Given the description of an element on the screen output the (x, y) to click on. 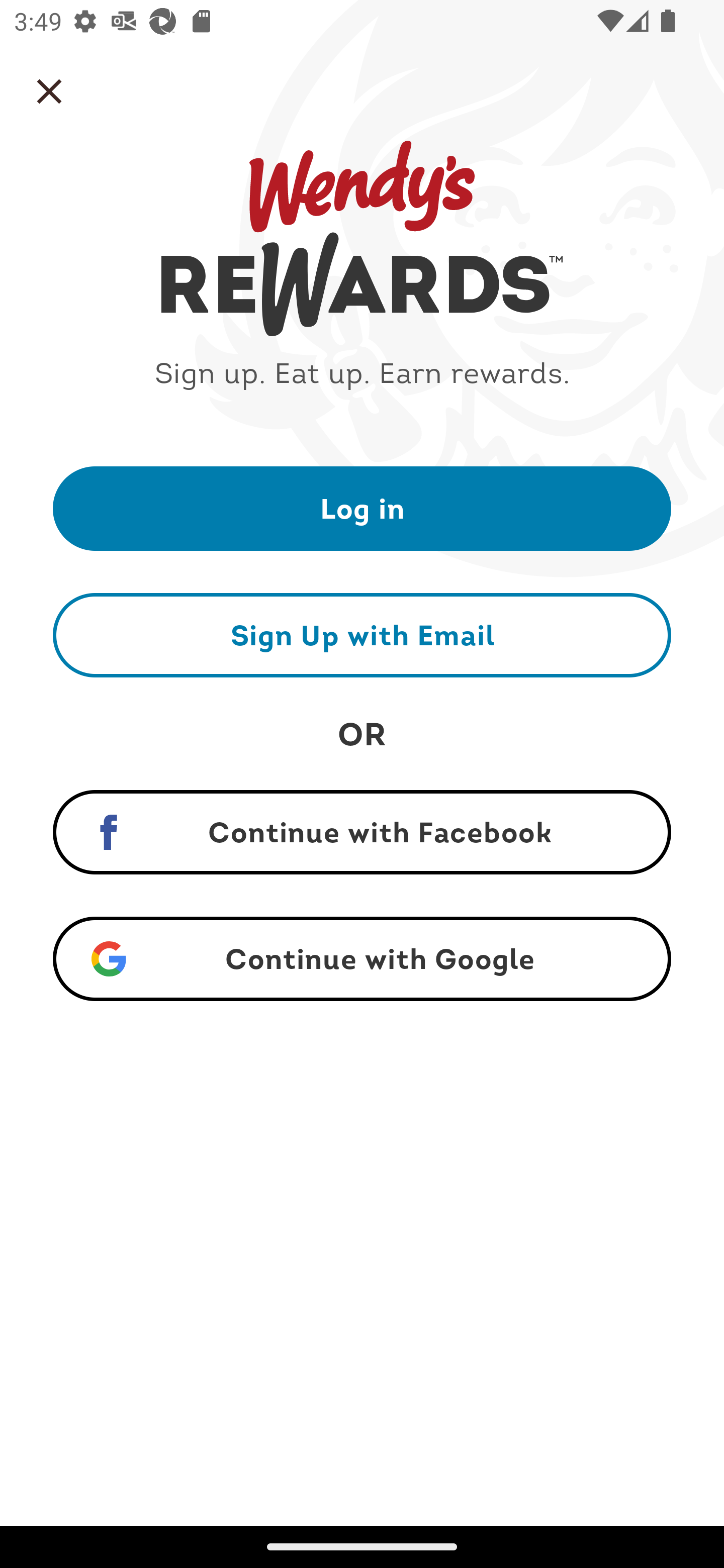
close (49, 91)
Log in (361, 507)
Sign Up with Email (361, 634)
Continue with Facebook (361, 832)
Continue with Google (361, 958)
